Given the description of an element on the screen output the (x, y) to click on. 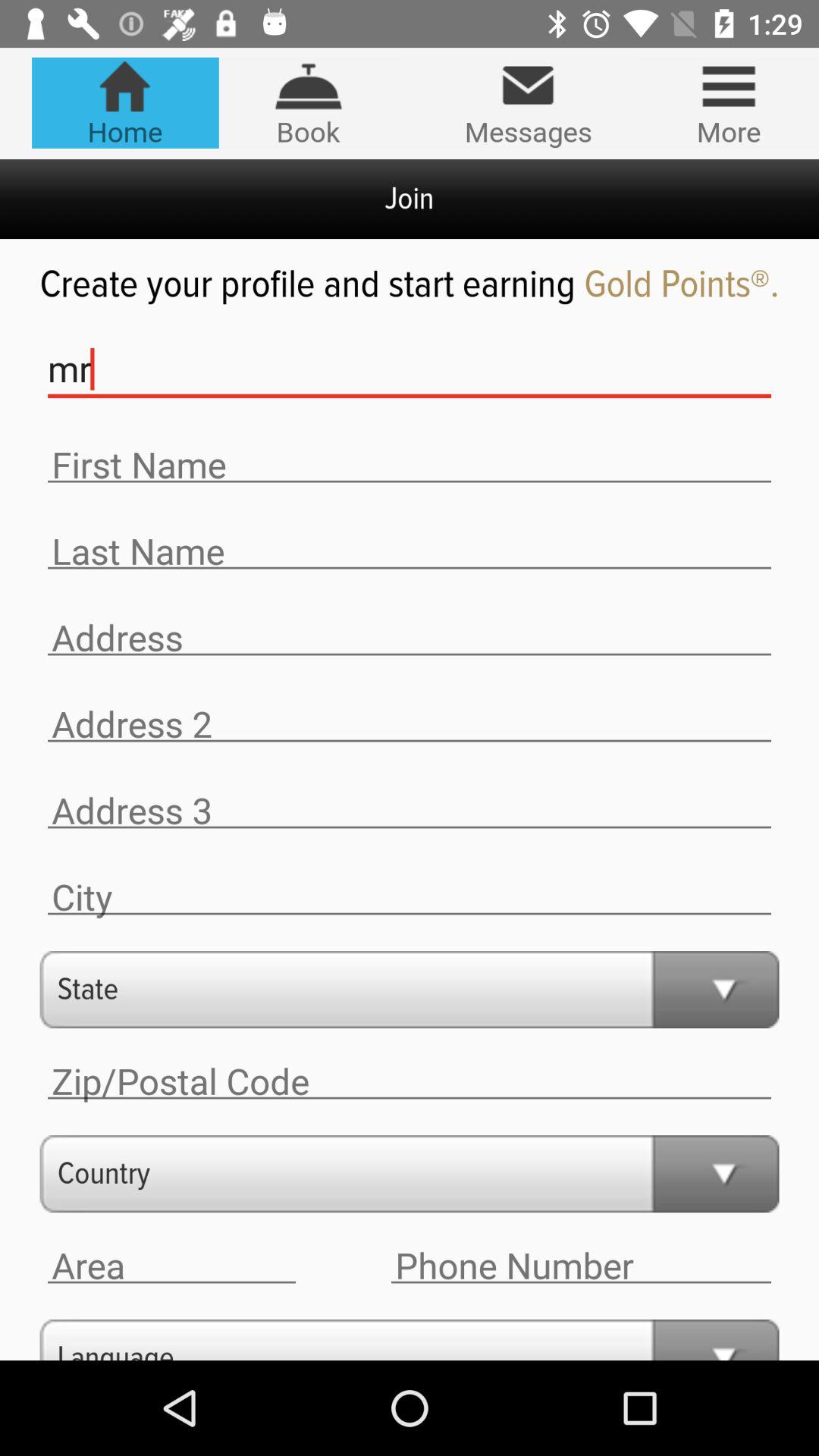
enter zip/postal code (409, 1081)
